Given the description of an element on the screen output the (x, y) to click on. 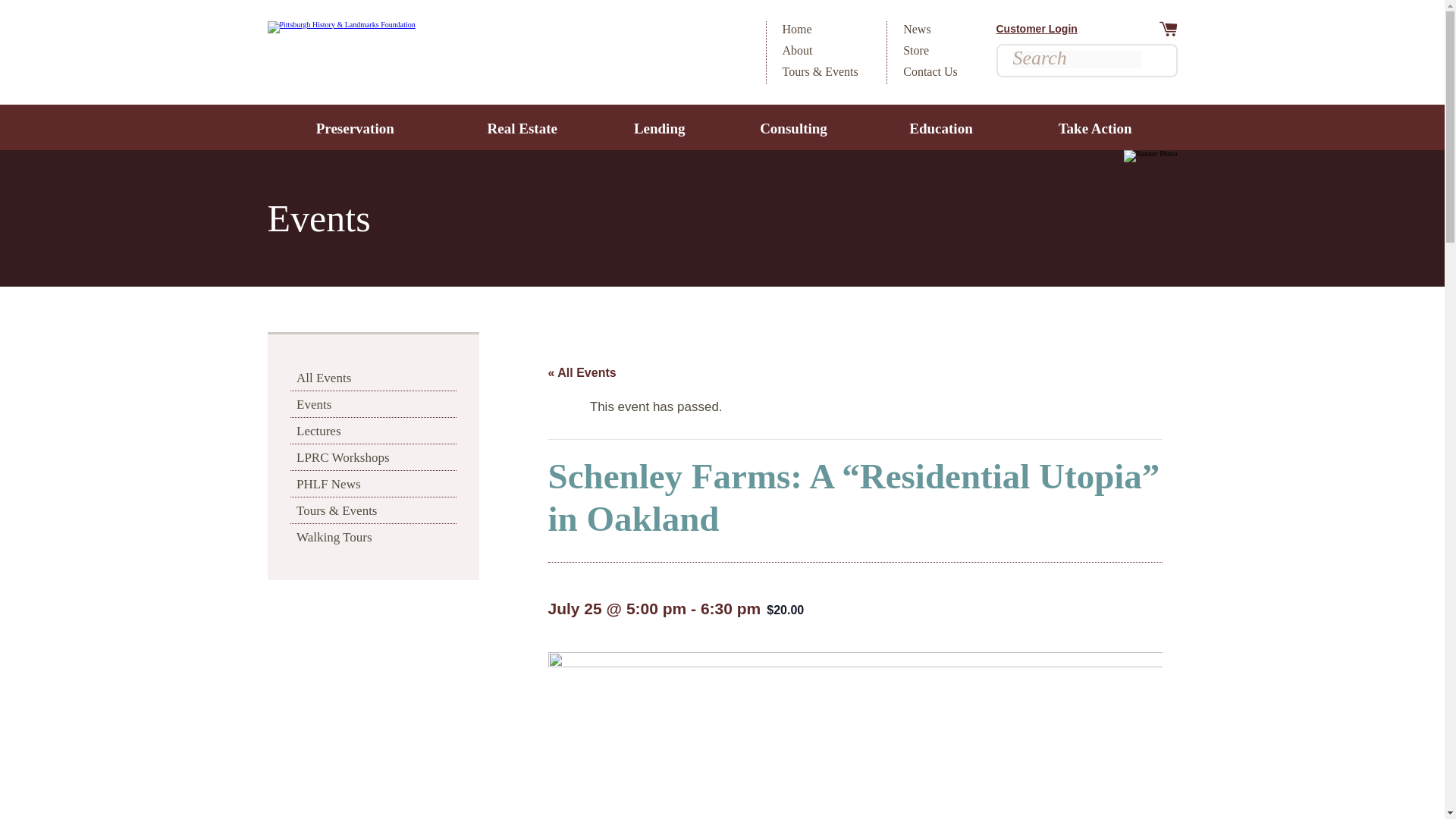
View all posts in Lectures (373, 430)
Search (1150, 60)
View all posts in LPRC Workshops (373, 457)
View all posts in PHLF News (373, 483)
Search (1150, 60)
View all posts in Events (373, 403)
View all posts in Walking Tours (373, 536)
